Given the description of an element on the screen output the (x, y) to click on. 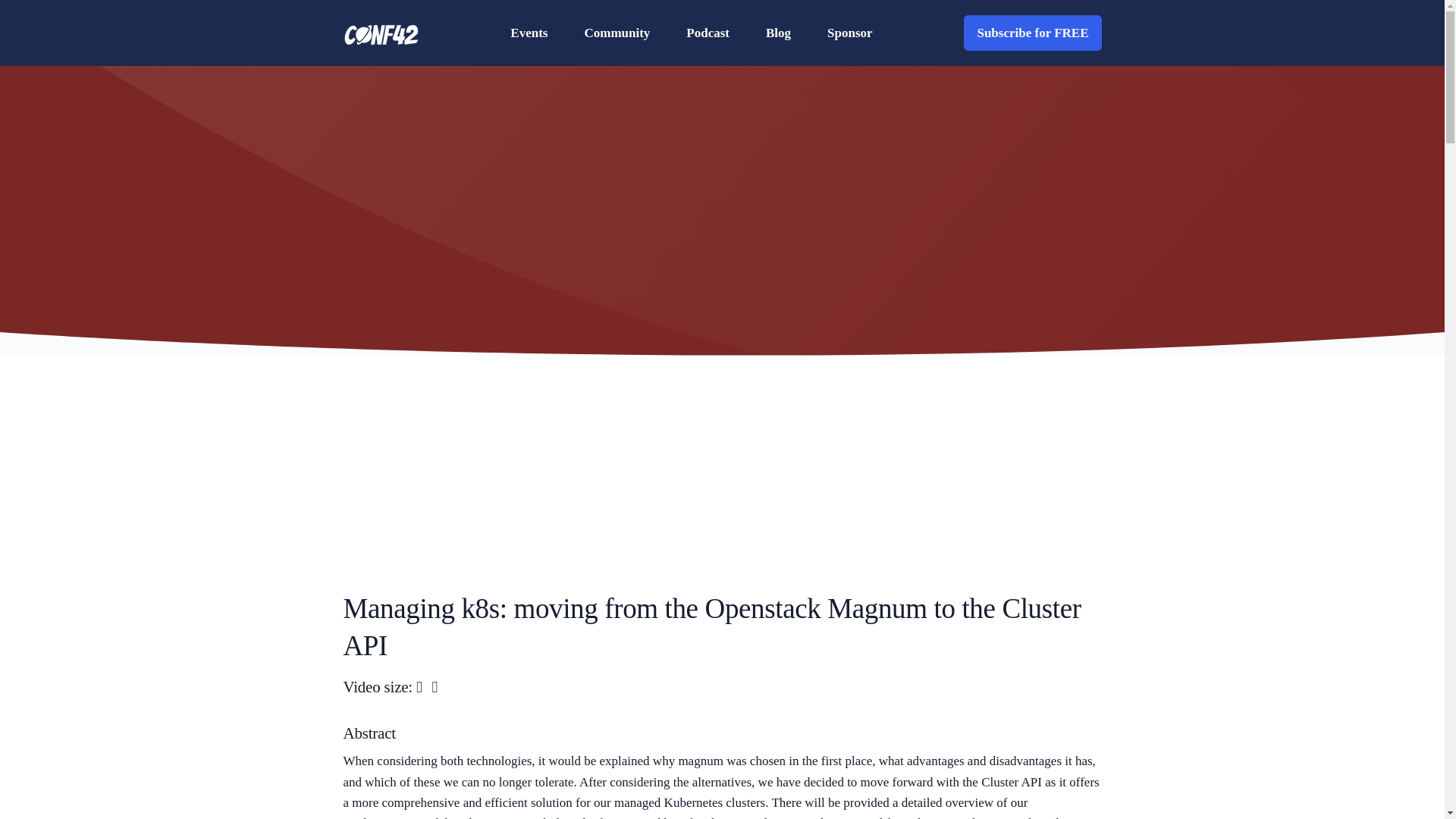
Community (617, 32)
Events (529, 32)
Podcast (708, 32)
